Given the description of an element on the screen output the (x, y) to click on. 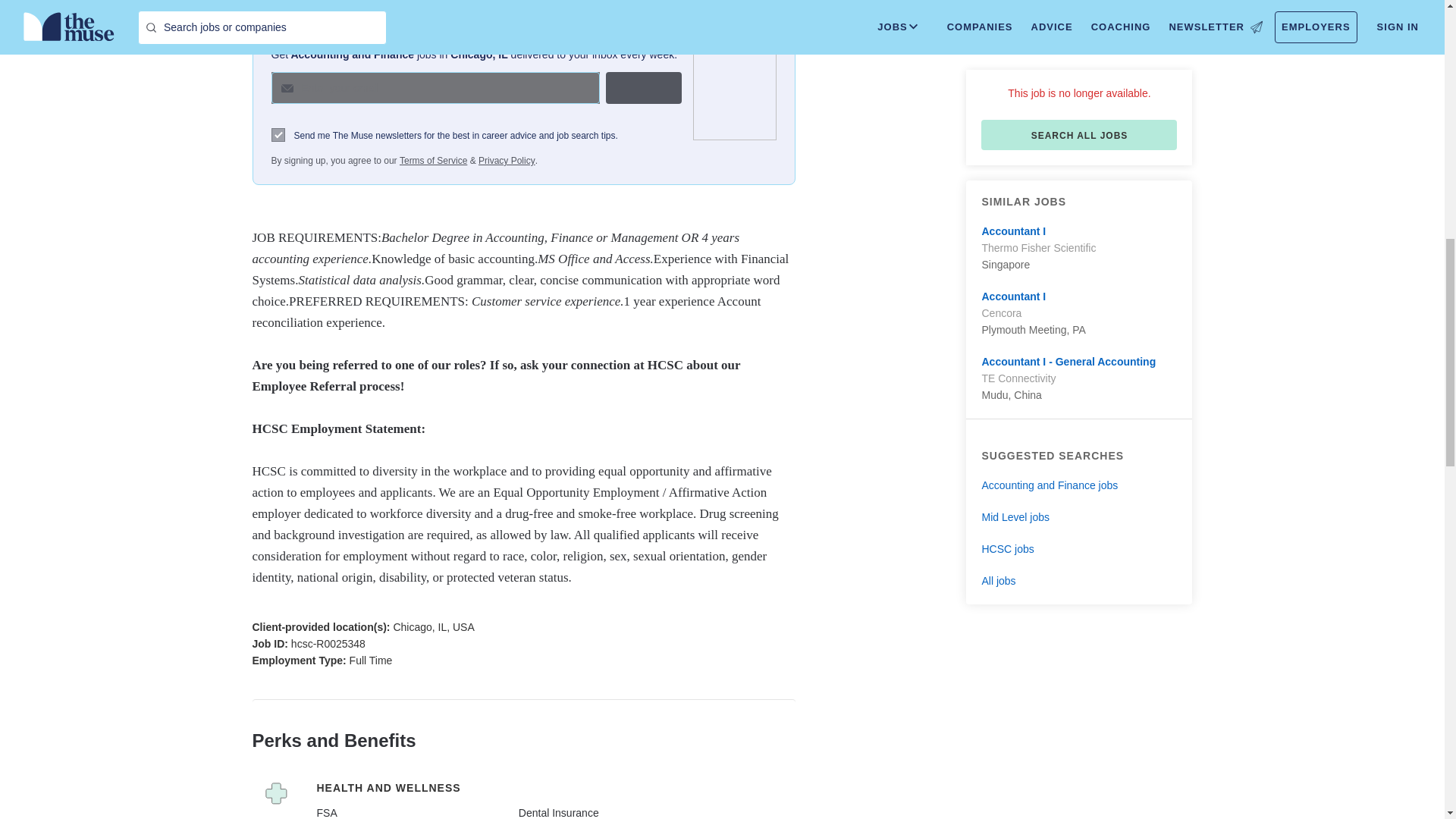
Terms of Service (432, 160)
Privacy Policy (506, 160)
GET JOBS (643, 88)
